Given the description of an element on the screen output the (x, y) to click on. 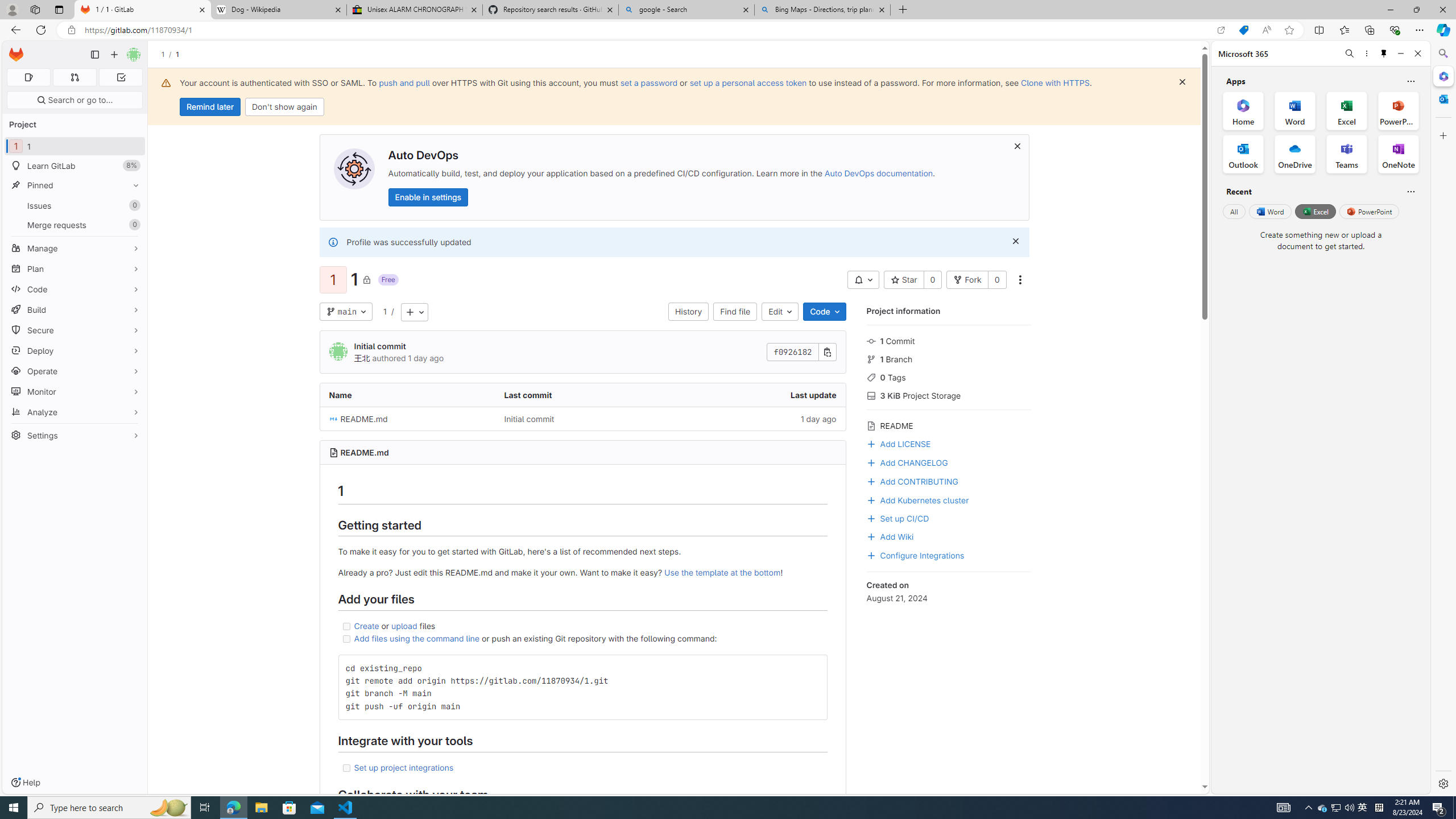
0 Tags (948, 376)
1 Commit (948, 340)
Learn GitLab8% (74, 165)
Is this helpful? (1410, 191)
Add LICENSE (948, 442)
Set up CI/CD (948, 517)
Shopping in Microsoft Edge (1243, 29)
Analyze (74, 411)
1 (384, 311)
OneNote Office App (1398, 154)
1/ (168, 53)
Unpin Merge requests (132, 224)
Microsoft 365 (1442, 76)
